Given the description of an element on the screen output the (x, y) to click on. 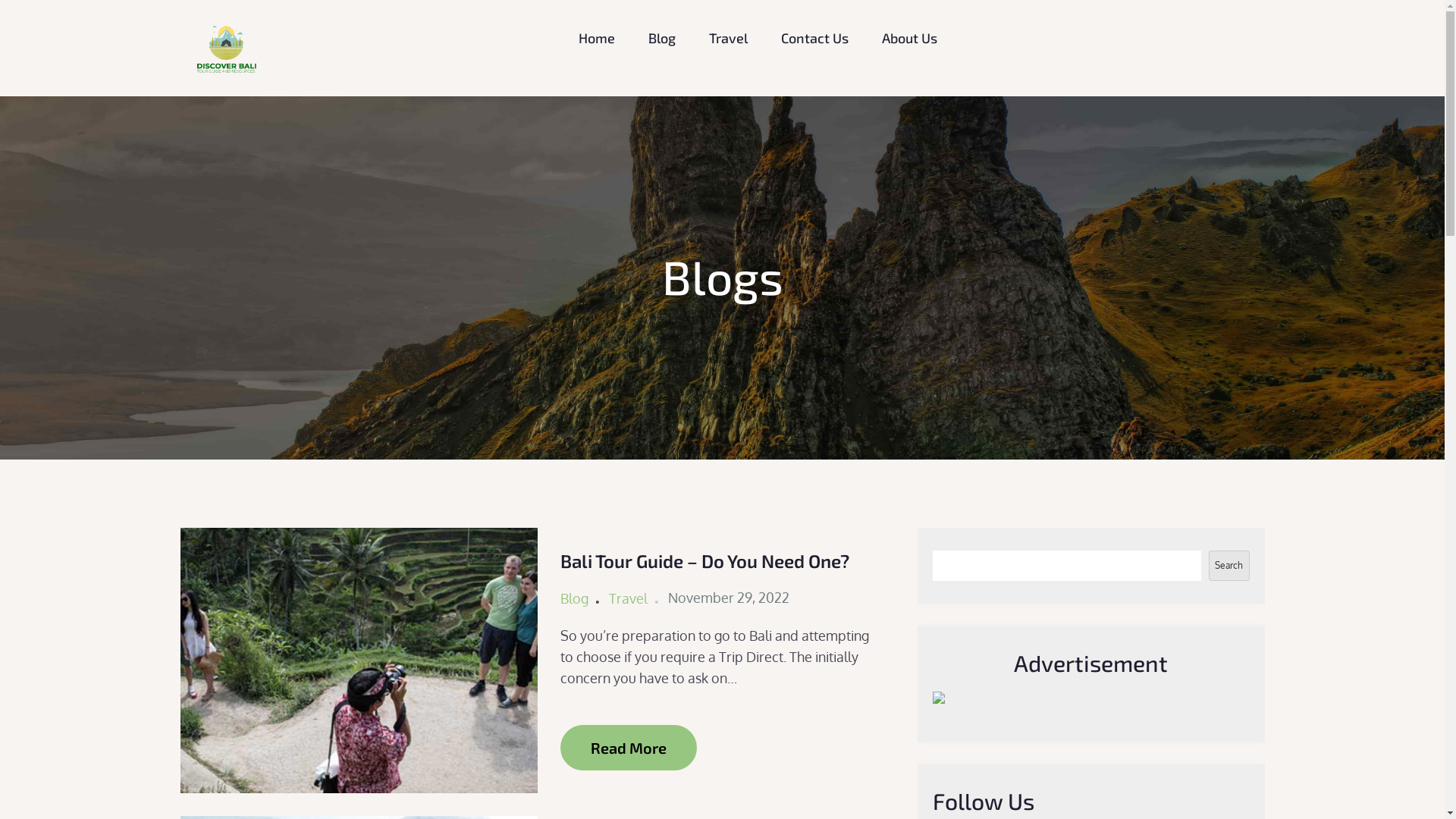
Blog Element type: text (574, 597)
Search Element type: text (1228, 565)
Travel Element type: text (727, 37)
Blog Element type: text (660, 37)
Discover Bali Element type: text (349, 62)
November 29, 2022 Element type: text (728, 597)
Travel Element type: text (627, 597)
Home Element type: text (595, 37)
About Us Element type: text (908, 37)
Read More Element type: text (628, 747)
Contact Us Element type: text (814, 37)
